Given the description of an element on the screen output the (x, y) to click on. 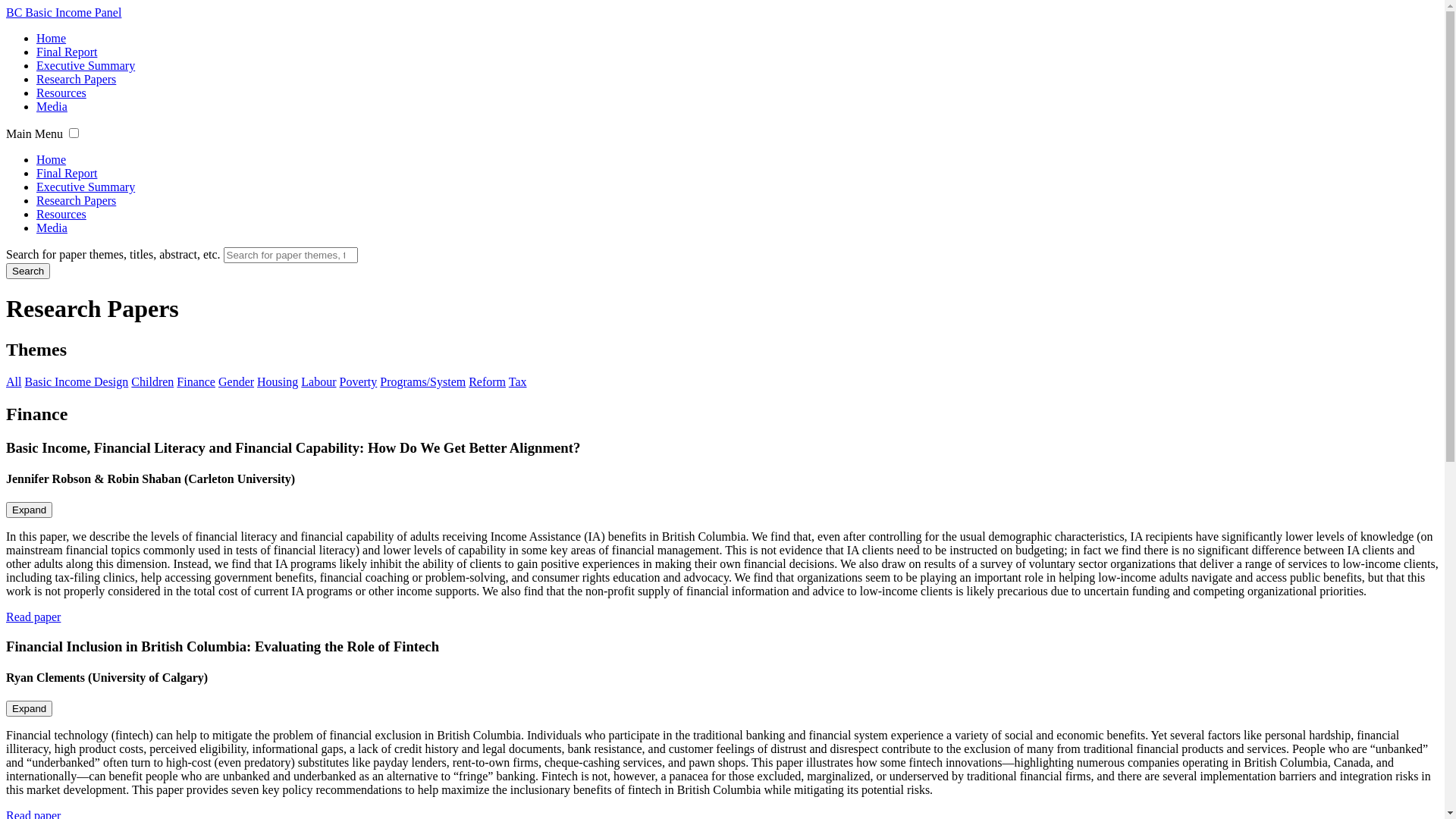
Final Report Element type: text (66, 51)
Expand Element type: text (29, 509)
Executive Summary Element type: text (85, 186)
Finance Element type: text (195, 381)
Media Element type: text (51, 227)
Gender Element type: text (236, 381)
Tax Element type: text (517, 381)
Expand Element type: text (29, 708)
Final Report Element type: text (66, 172)
Media Element type: text (51, 106)
BC Basic Income Panel Element type: text (722, 12)
Children Element type: text (152, 381)
Home Element type: text (50, 37)
Programs/System Element type: text (422, 381)
Housing Element type: text (277, 381)
Labour Element type: text (318, 381)
Basic Income Design Element type: text (76, 381)
Reform Element type: text (486, 381)
Research Papers Element type: text (76, 200)
All Element type: text (13, 381)
Read paper Element type: text (33, 616)
Resources Element type: text (61, 92)
Search Element type: text (28, 271)
Poverty Element type: text (358, 381)
Research Papers Element type: text (76, 78)
Executive Summary Element type: text (85, 65)
Resources Element type: text (61, 213)
Home Element type: text (50, 159)
